Given the description of an element on the screen output the (x, y) to click on. 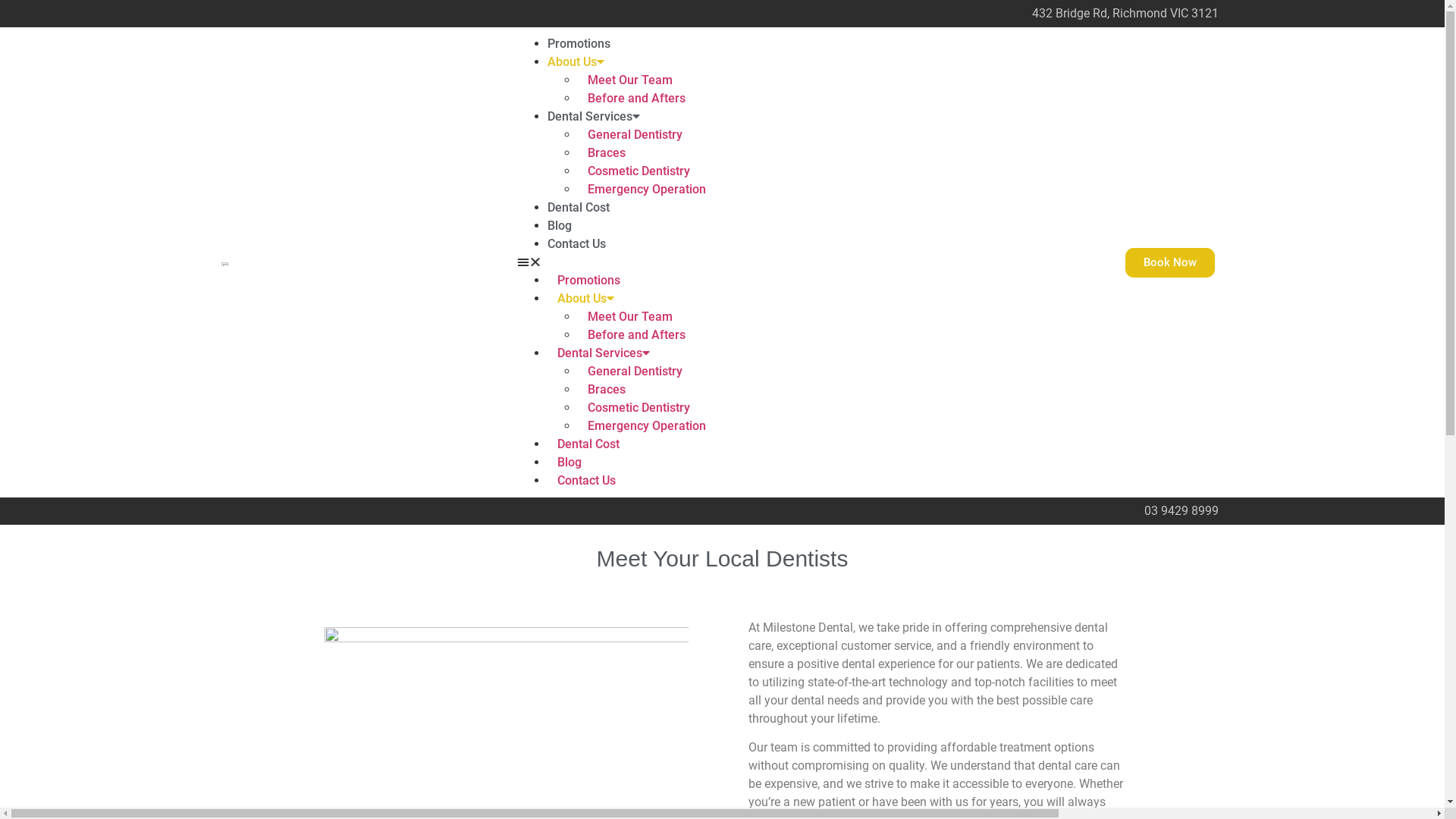
Dental Cost Element type: text (578, 207)
432 Bridge Rd, Richmond VIC 3121 Element type: text (1124, 13)
Cosmetic Dentistry Element type: text (638, 170)
Contact Us Element type: text (576, 243)
About Us Element type: text (585, 298)
Meet Our Team Element type: text (629, 79)
General Dentistry Element type: text (634, 371)
Braces Element type: text (606, 152)
Meet Our Team Element type: text (629, 316)
Blog Element type: text (569, 462)
Dental Services Element type: text (603, 352)
Before and Afters Element type: text (636, 334)
Emergency Operation Element type: text (646, 189)
Blog Element type: text (559, 225)
About Us Element type: text (575, 61)
Promotions Element type: text (578, 43)
Dental Cost Element type: text (588, 443)
Braces Element type: text (606, 389)
Contact Us Element type: text (586, 480)
Emergency Operation Element type: text (646, 425)
Book Now Element type: text (1169, 261)
Promotions Element type: text (588, 280)
General Dentistry Element type: text (634, 134)
Cosmetic Dentistry Element type: text (638, 407)
Dental Services Element type: text (593, 116)
Before and Afters Element type: text (636, 98)
